Given the description of an element on the screen output the (x, y) to click on. 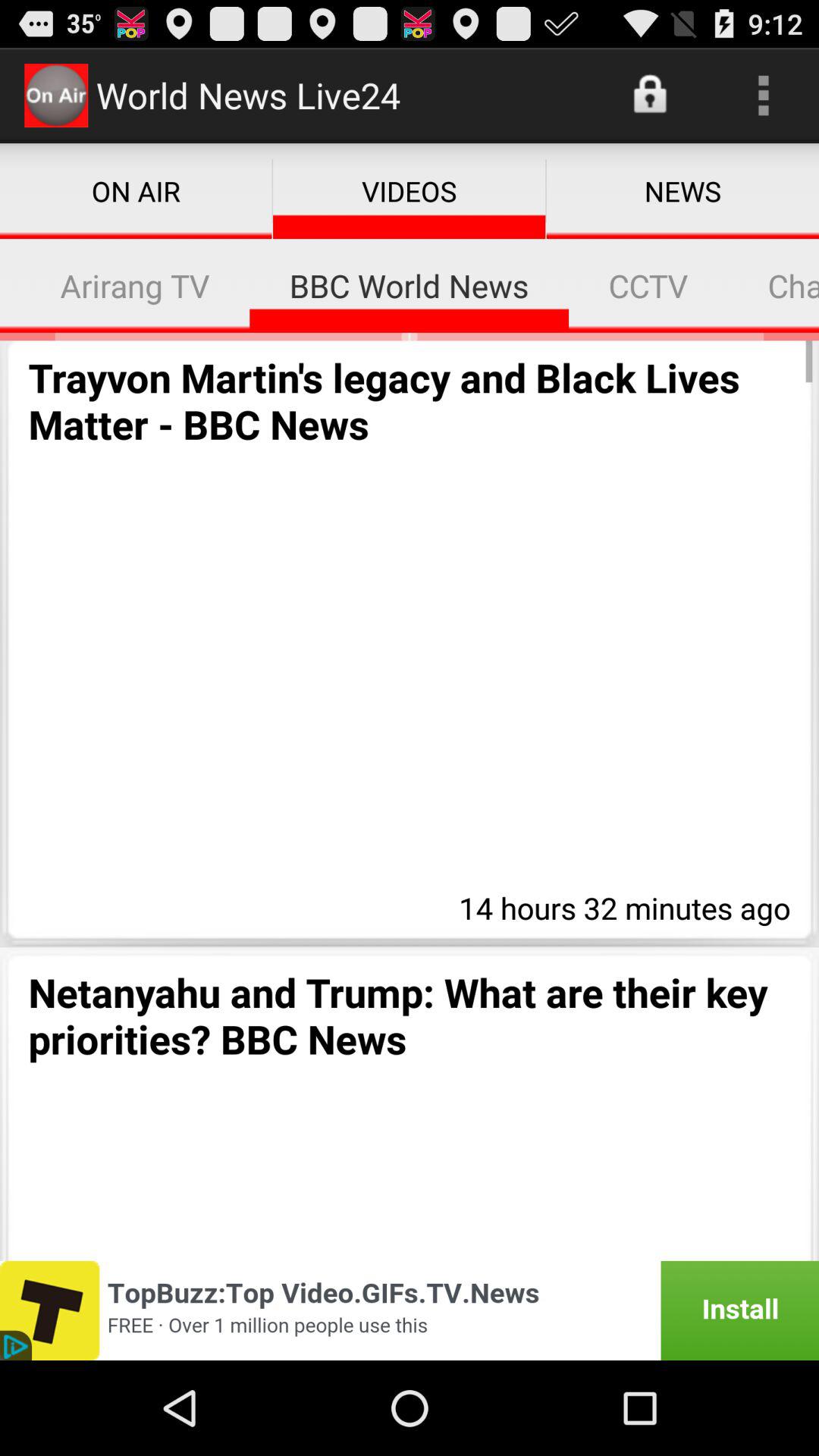
choose the 14 hours 32 item (620, 905)
